Given the description of an element on the screen output the (x, y) to click on. 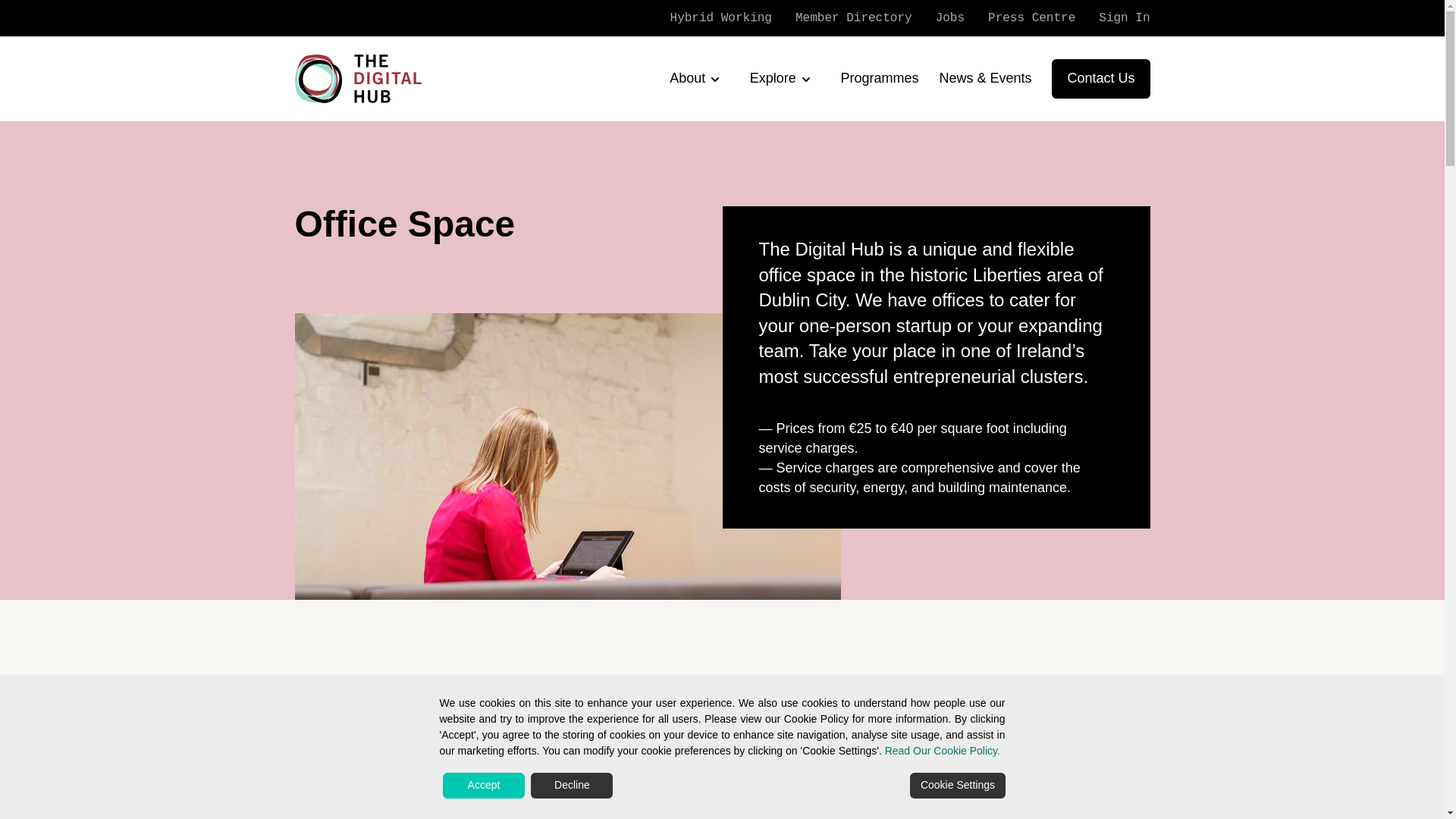
Programmes (879, 77)
Sign In (1114, 18)
Member Directory (844, 18)
Jobs (939, 18)
Hybrid Working (710, 18)
Contact Us (1100, 78)
Press Centre (1021, 18)
